Given the description of an element on the screen output the (x, y) to click on. 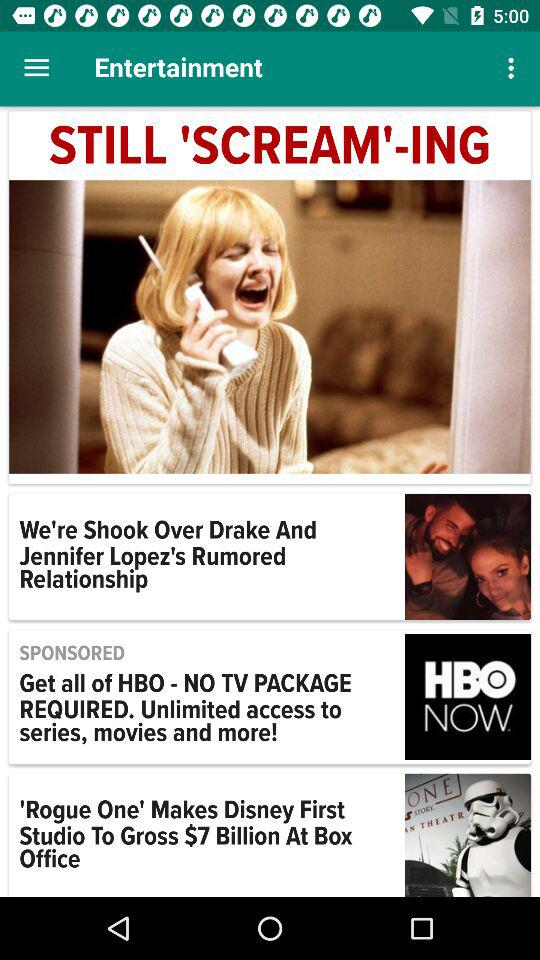
open item above still 'scream'-ing icon (36, 68)
